Given the description of an element on the screen output the (x, y) to click on. 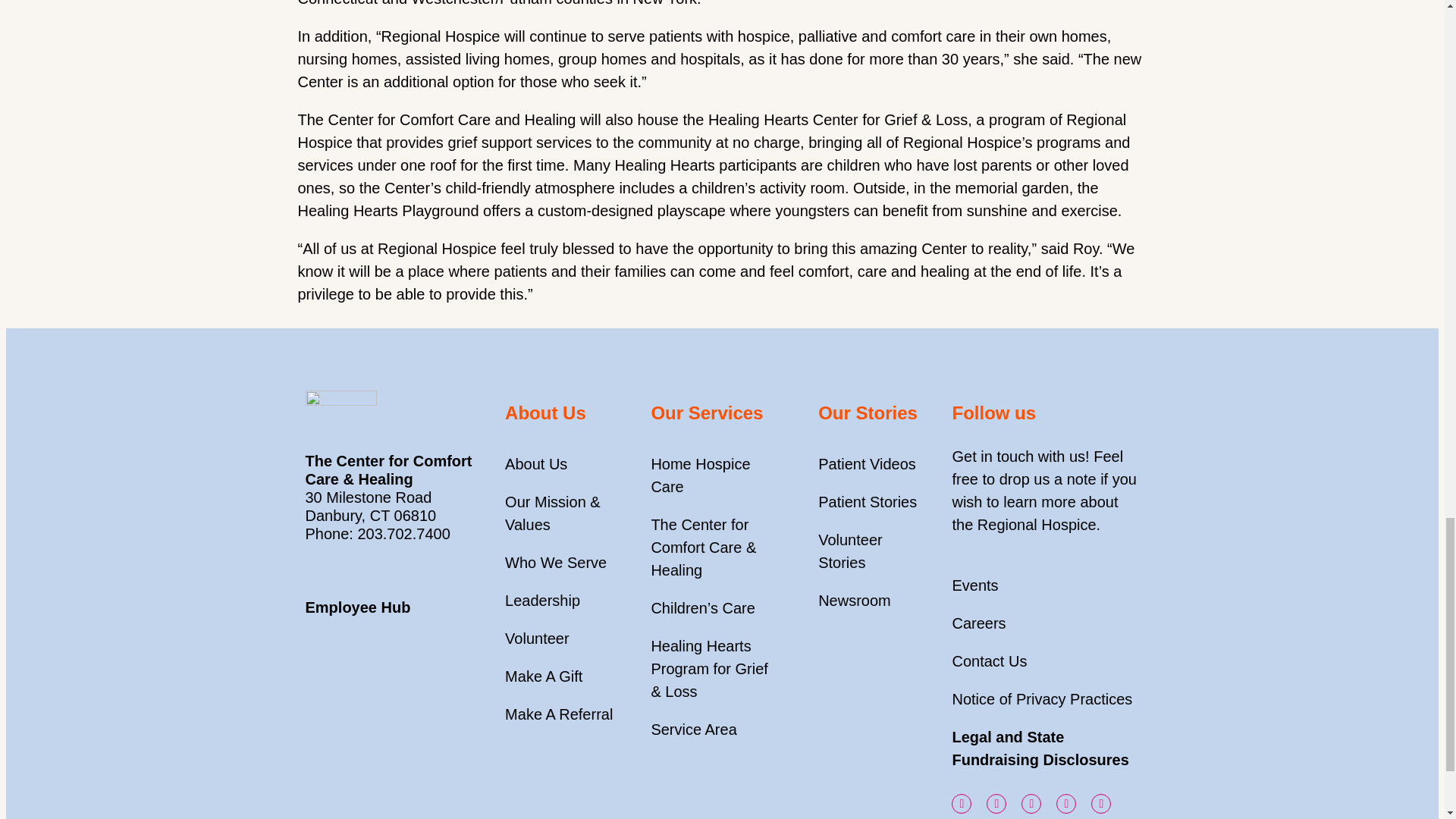
Who We Serve (556, 562)
Employee Hub (357, 606)
About Us (536, 463)
